Given the description of an element on the screen output the (x, y) to click on. 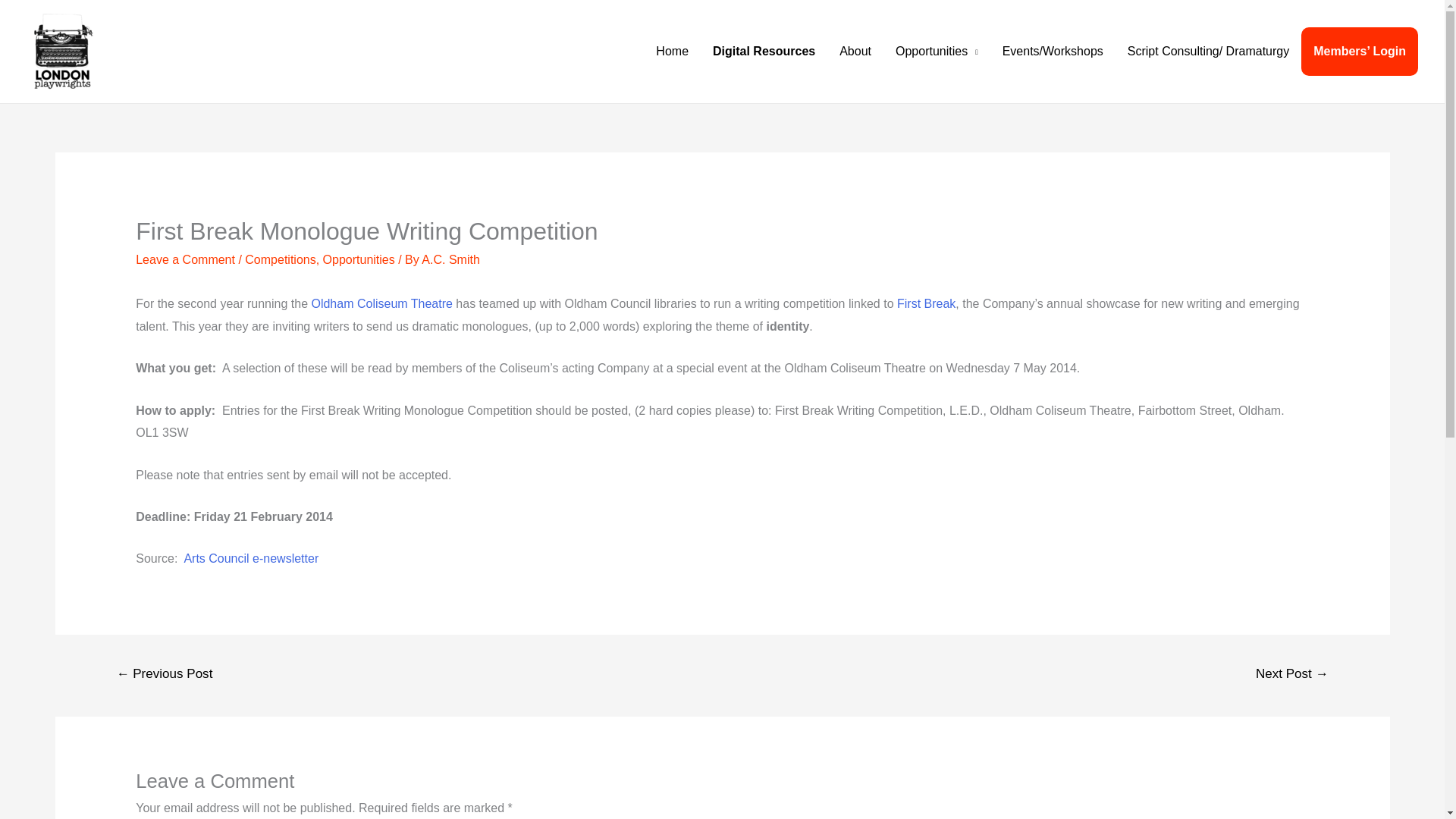
Competitions (279, 259)
First Break (925, 303)
Opportunities (936, 51)
Home (671, 51)
Digital Resources (763, 51)
Opportunities (358, 259)
About (855, 51)
Oldham Coliseum Theatre (381, 303)
Arts Council e-newsletter (250, 558)
View all posts by A.C. Smith (450, 259)
